Given the description of an element on the screen output the (x, y) to click on. 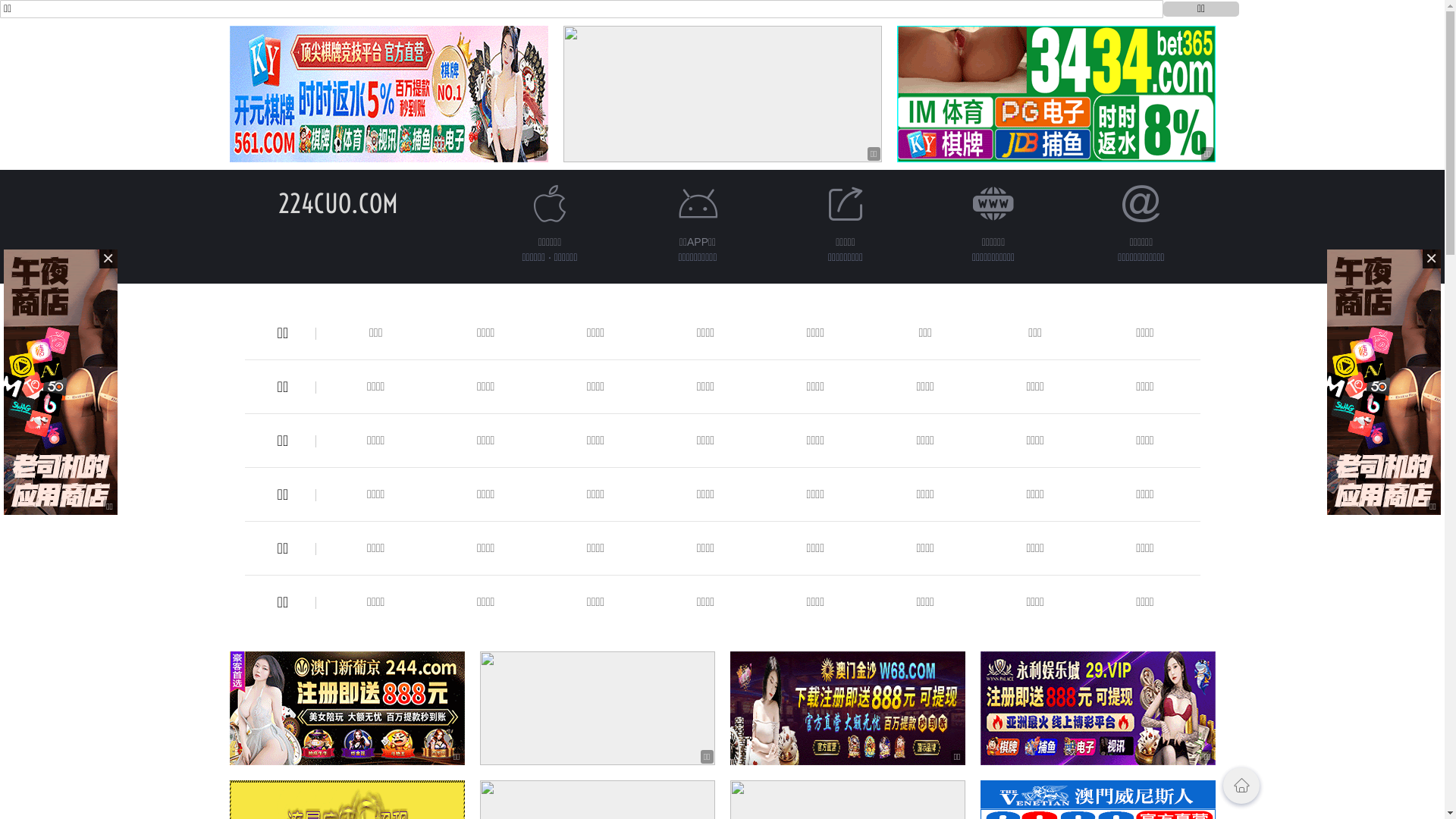
224CUO.COM Element type: text (337, 203)
